Given the description of an element on the screen output the (x, y) to click on. 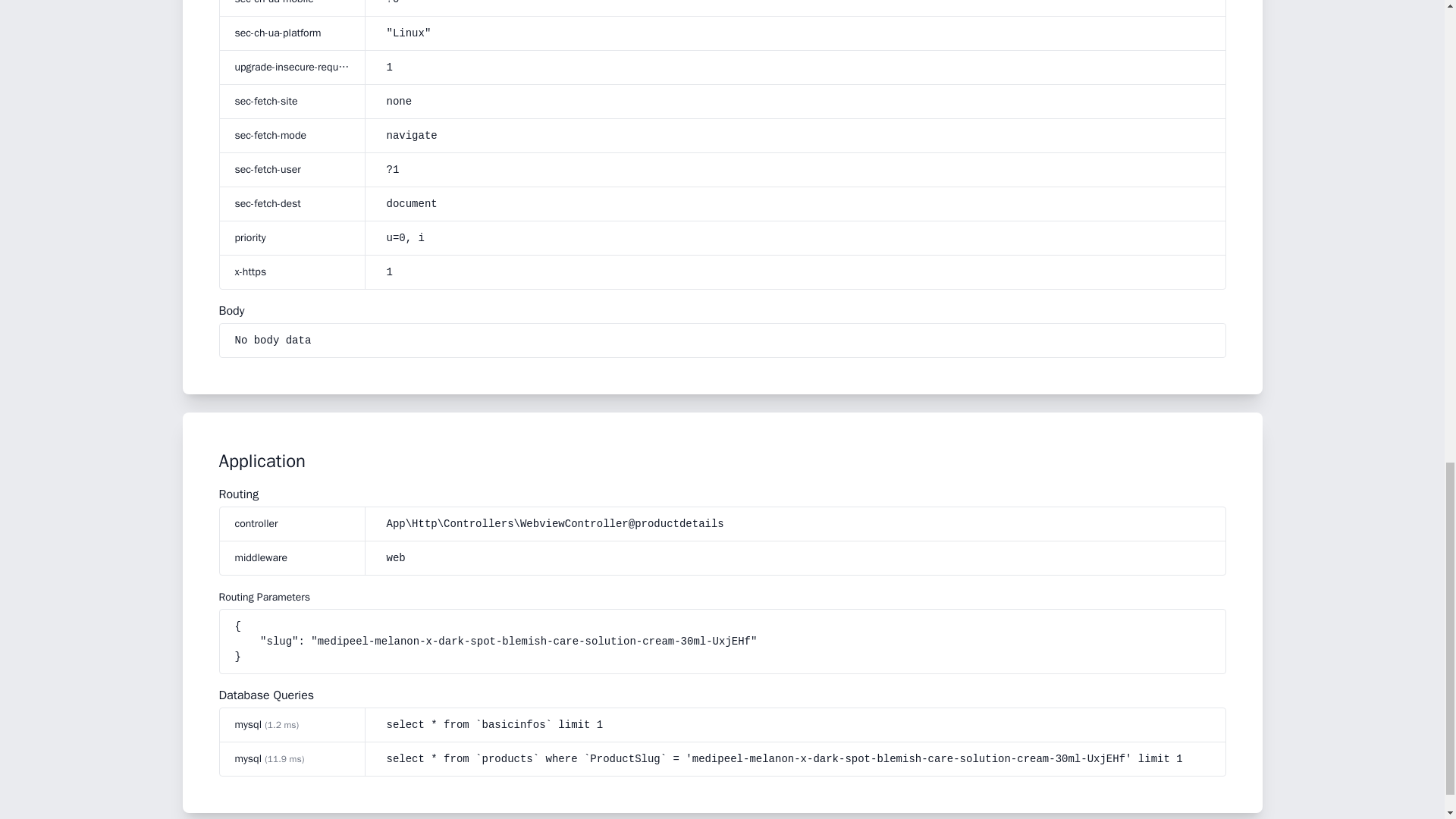
none (399, 101)
1 (389, 67)
?1 (798, 169)
"Linux" (798, 32)
web (395, 557)
No body data (272, 340)
navigate (798, 135)
document (798, 203)
document (411, 204)
